Given the description of an element on the screen output the (x, y) to click on. 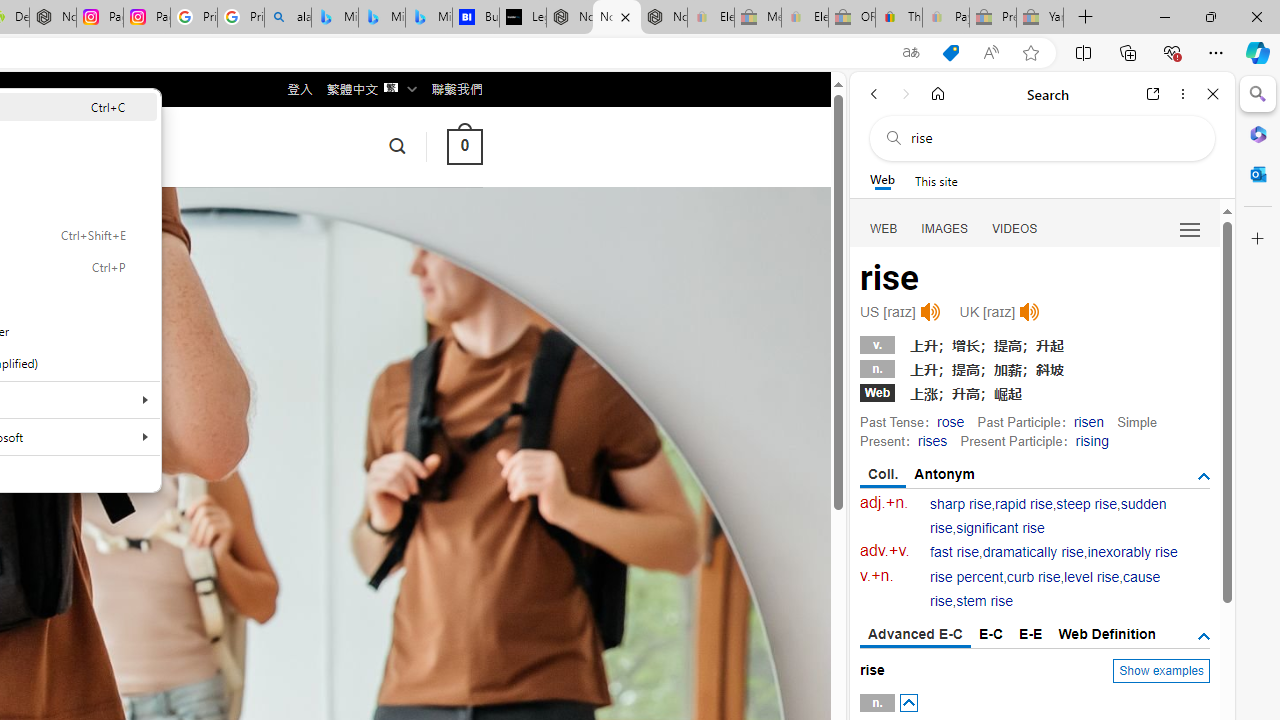
Search the web (1051, 137)
level rise (1091, 577)
AutomationID: tgsb (1203, 476)
inexorably rise (1131, 552)
Coll. (883, 475)
AutomationID: posbtn_0 (908, 703)
 0  (464, 146)
Advanced E-C (915, 635)
